Given the description of an element on the screen output the (x, y) to click on. 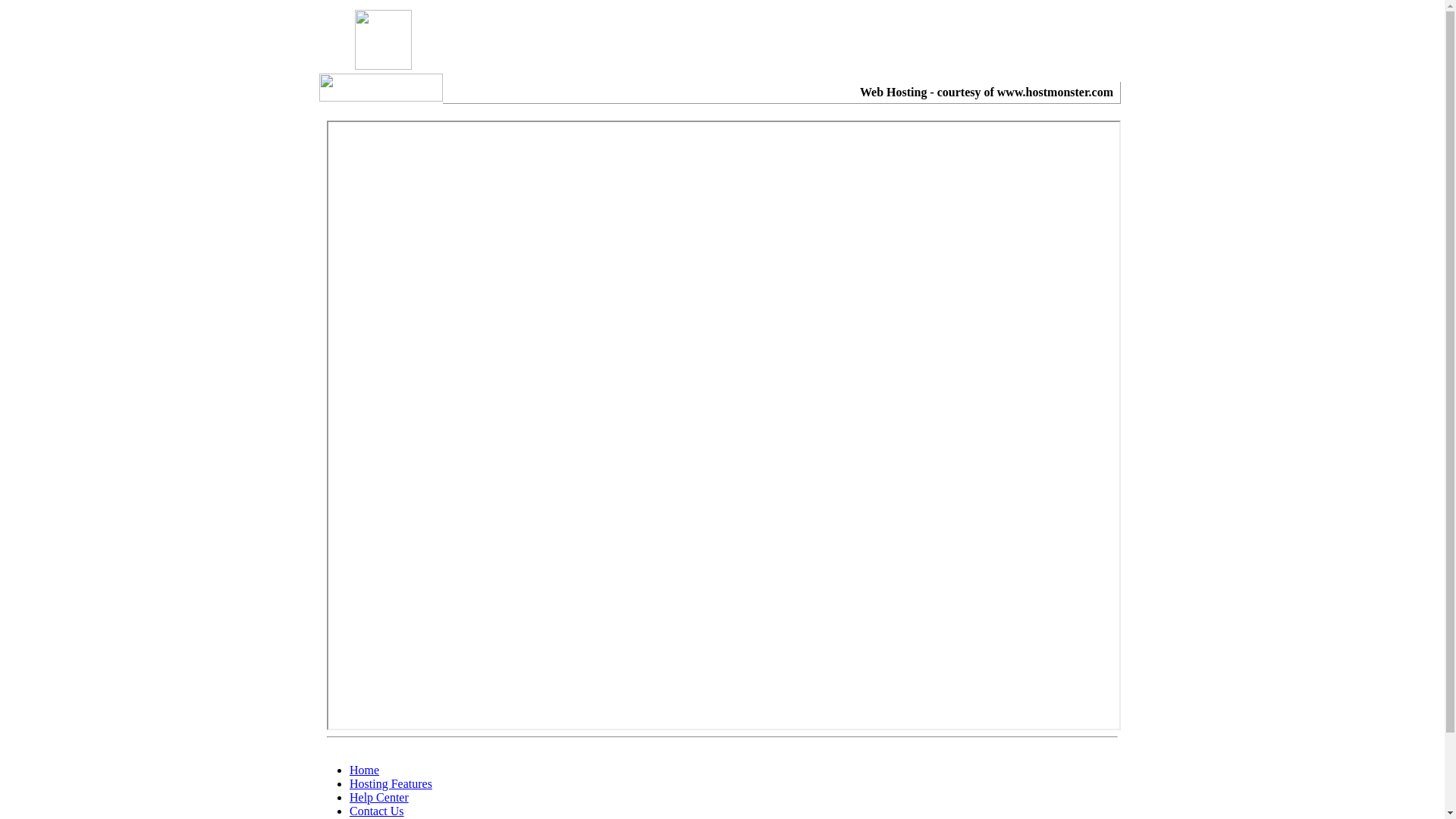
Contact Us Element type: text (376, 810)
Home Element type: text (364, 769)
Hosting Features Element type: text (390, 783)
Help Center Element type: text (378, 796)
Web Hosting - courtesy of www.hostmonster.com Element type: text (986, 91)
